Given the description of an element on the screen output the (x, y) to click on. 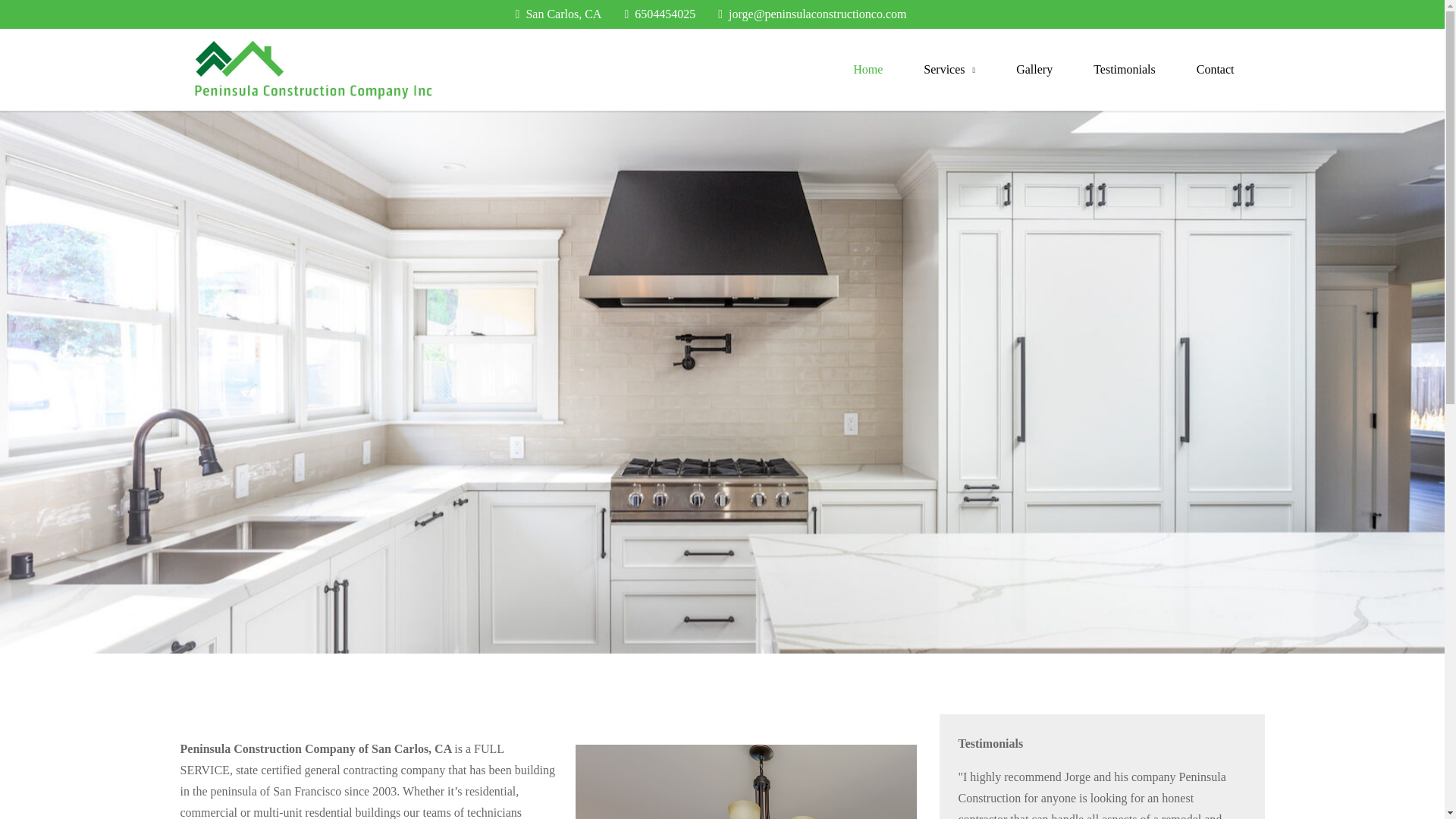
Home (867, 69)
6504454025 (659, 13)
Testimonials (1124, 69)
Services (949, 69)
Peninsula Construction Company (607, 81)
Contact (1215, 69)
Gallery (1034, 69)
